Given the description of an element on the screen output the (x, y) to click on. 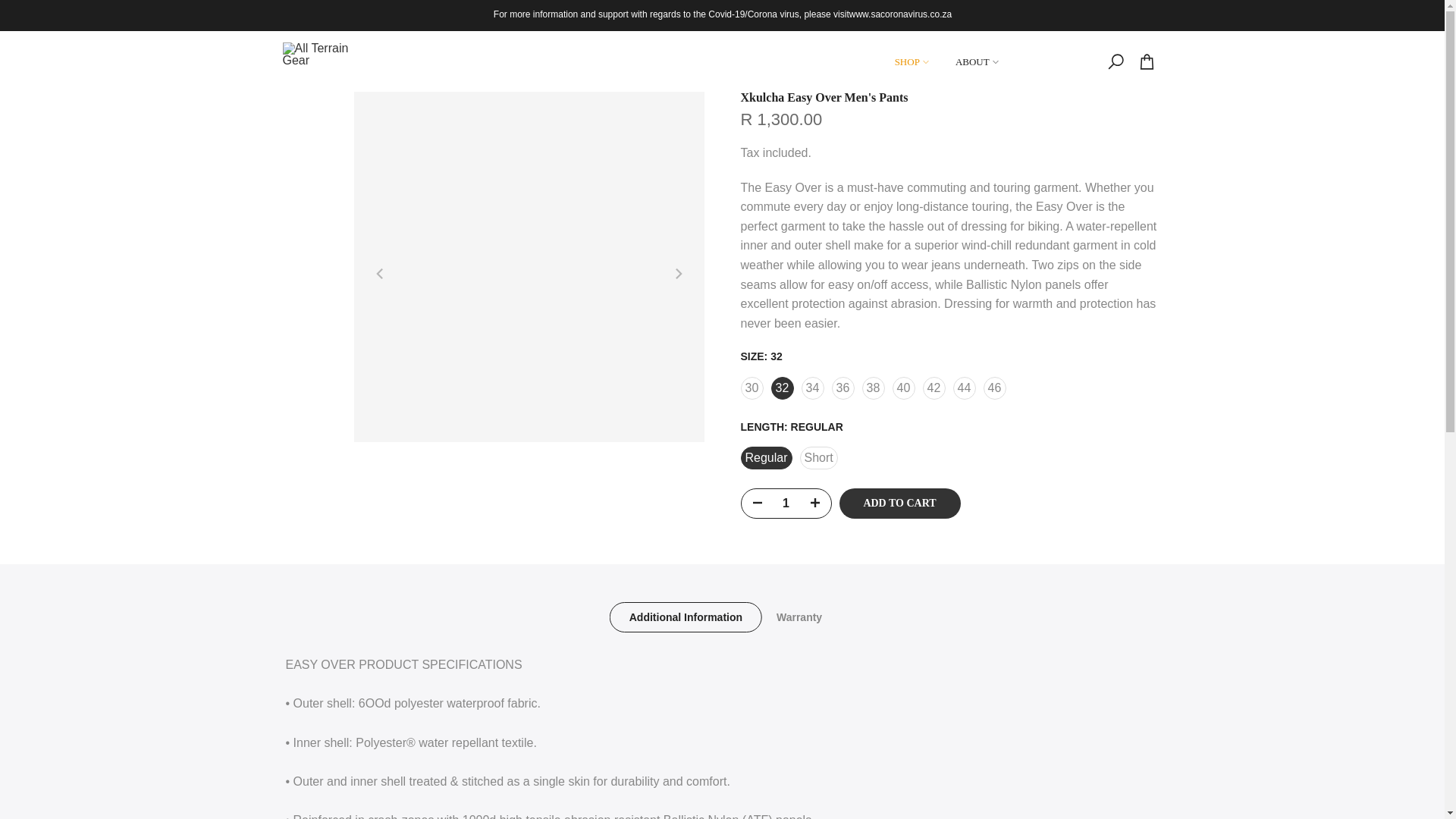
Warranty (798, 616)
ADD TO CART (898, 503)
ABOUT (976, 61)
Additional Information (684, 616)
www.sacoronavirus.co.za (899, 14)
SHOP (911, 61)
1 (786, 502)
Skip to content (10, 7)
